Given the description of an element on the screen output the (x, y) to click on. 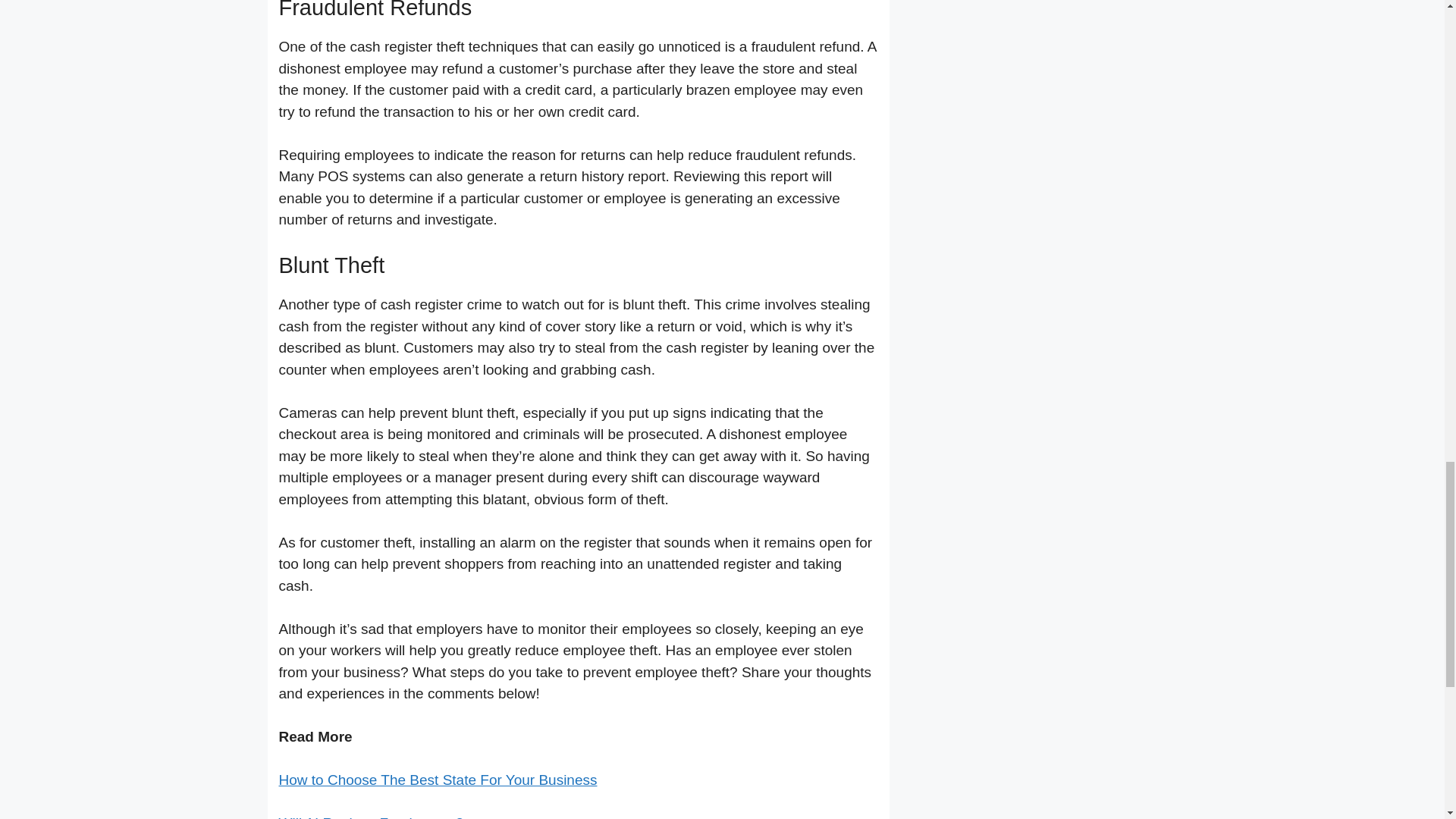
How to Choose The Best State For Your Business (437, 779)
Will AI Replace Freelancers? (371, 816)
